Given the description of an element on the screen output the (x, y) to click on. 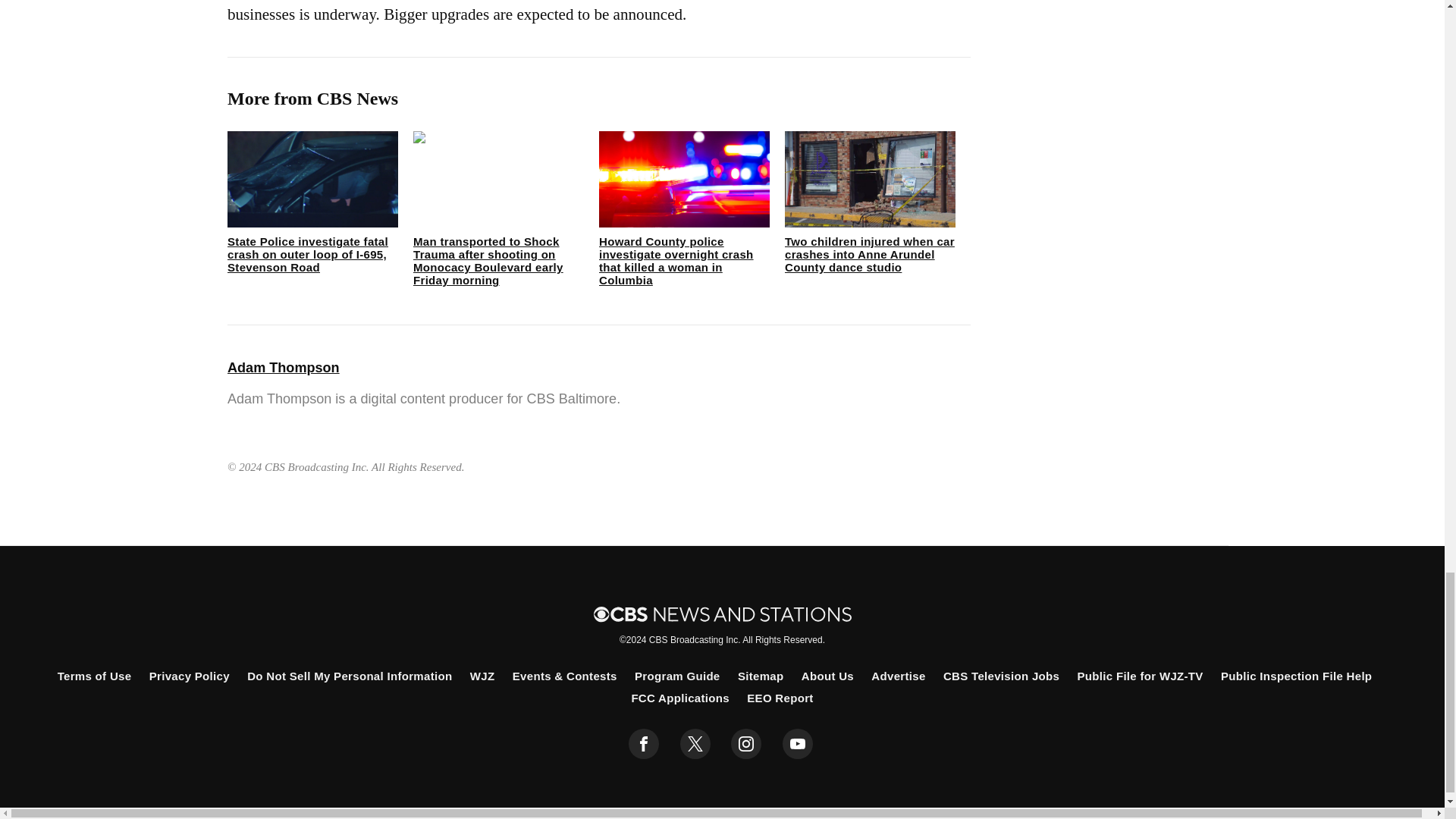
instagram (745, 743)
twitter (694, 743)
youtube (797, 743)
facebook (643, 743)
